Given the description of an element on the screen output the (x, y) to click on. 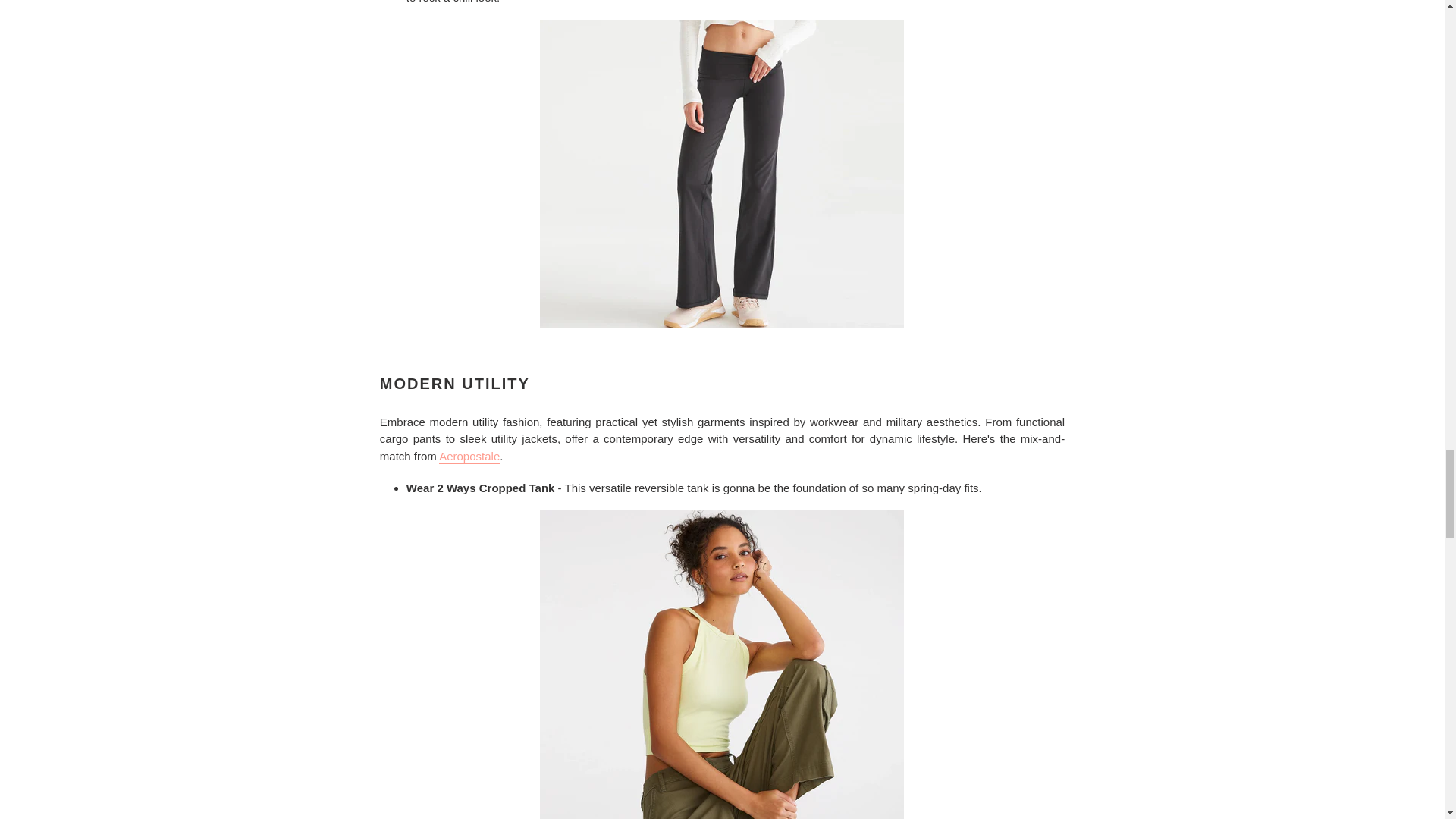
Aeropostale (469, 456)
Aeropostale (469, 456)
